Given the description of an element on the screen output the (x, y) to click on. 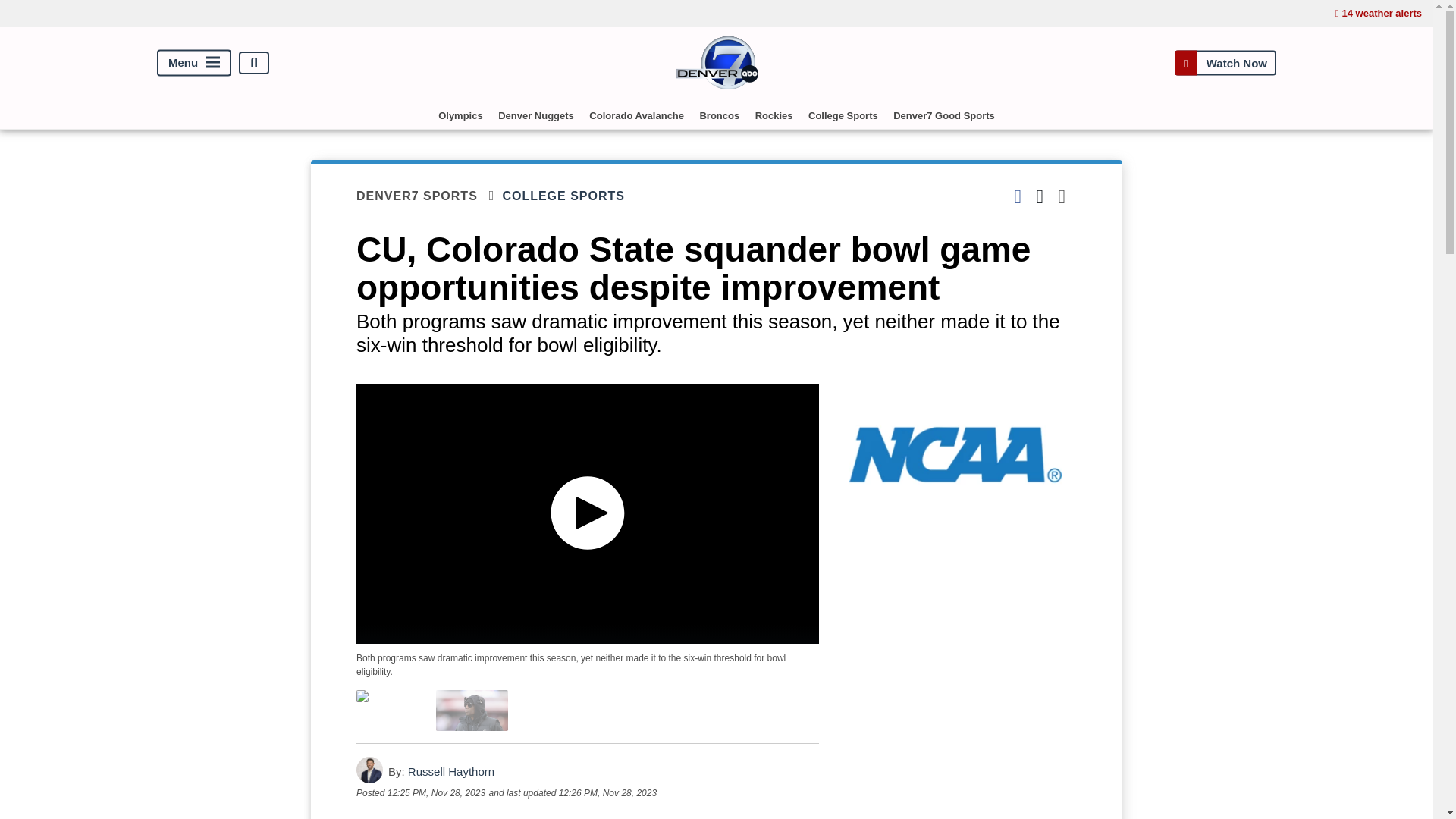
Menu (194, 62)
Watch Now (1224, 62)
